Given the description of an element on the screen output the (x, y) to click on. 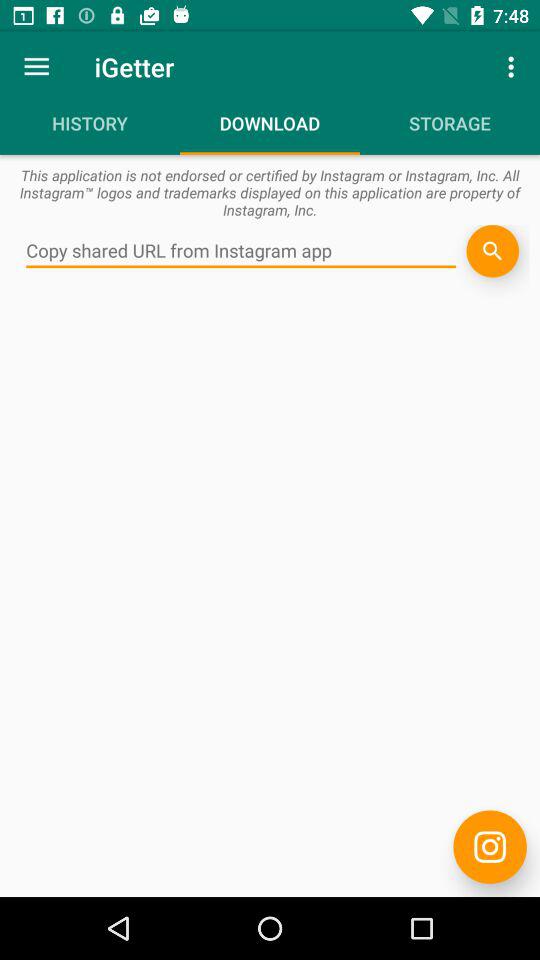
open camera (489, 846)
